Given the description of an element on the screen output the (x, y) to click on. 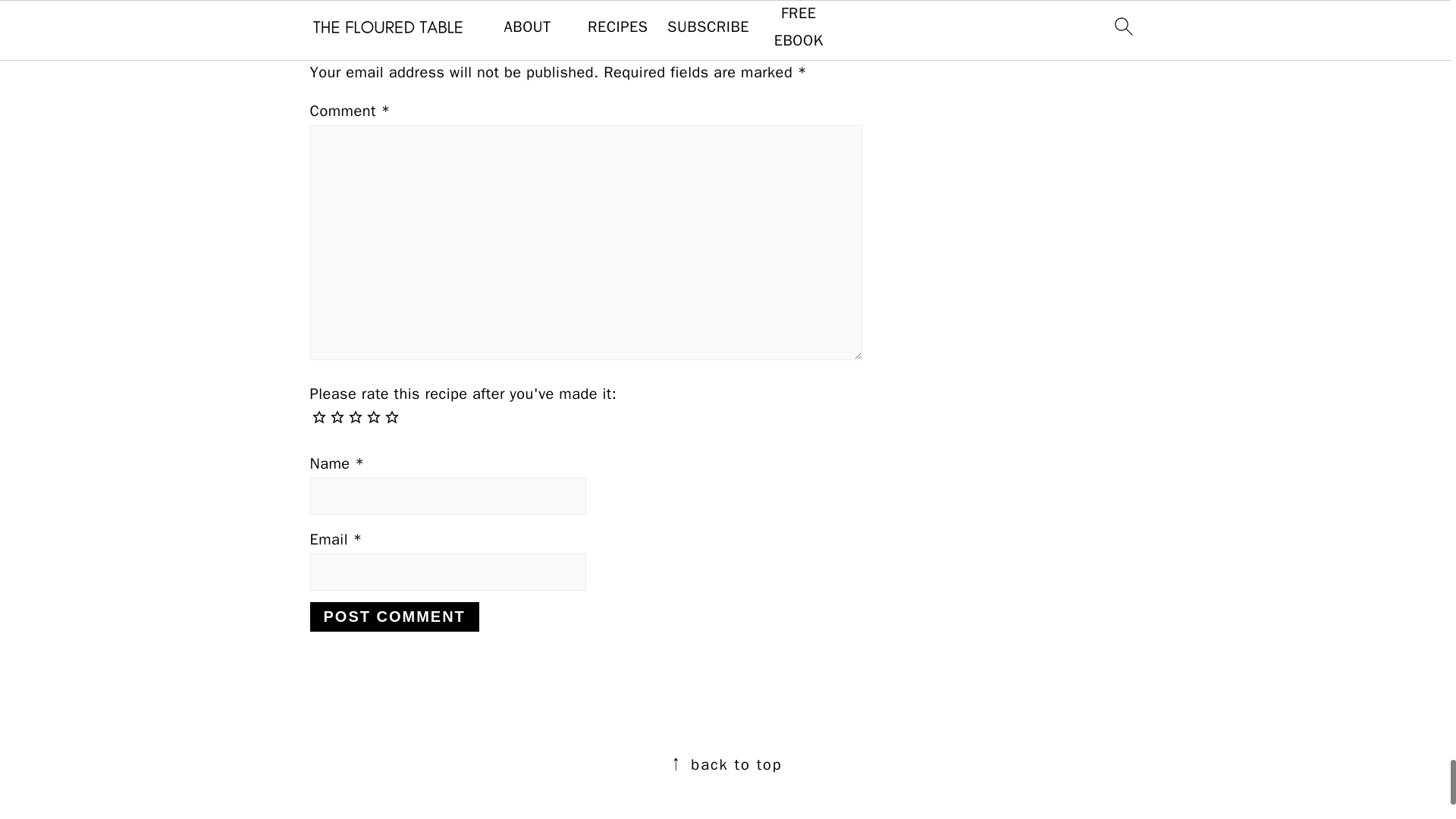
Post Comment (393, 616)
